Given the description of an element on the screen output the (x, y) to click on. 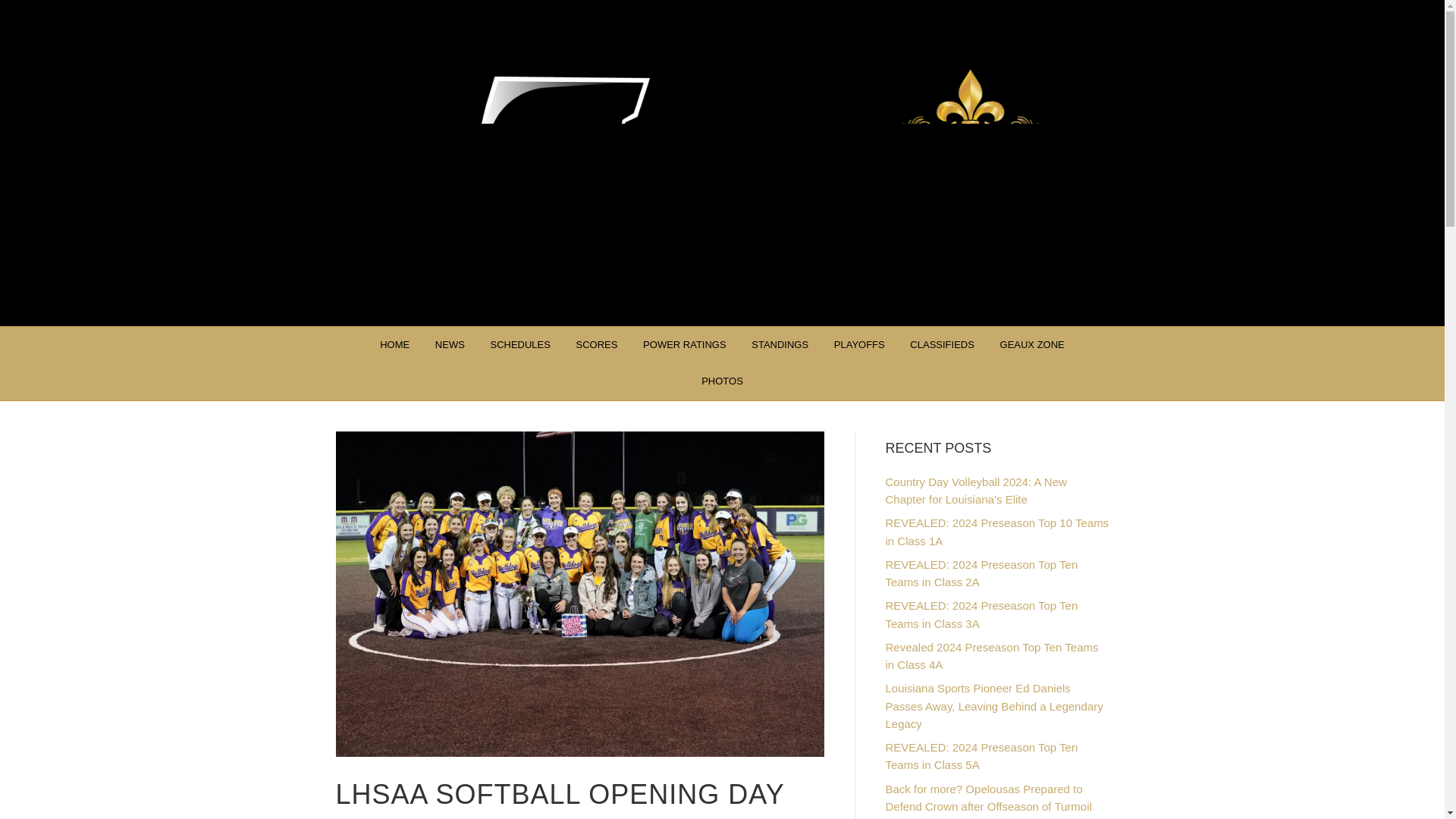
REVEALED: 2024 Preseason Top 10 Teams in Class 1A (997, 531)
REVEALED: 2024 Preseason Top Ten Teams in Class 5A (981, 756)
REVEALED: 2024 Preseason Top Ten Teams in Class 2A (981, 572)
NEWS (449, 344)
CLASSIFIEDS (941, 344)
REVEALED: 2024 Preseason Top Ten Teams in Class 3A (981, 613)
PHOTOS (722, 381)
SCHEDULES (519, 344)
POWER RATINGS (684, 344)
